Given the description of an element on the screen output the (x, y) to click on. 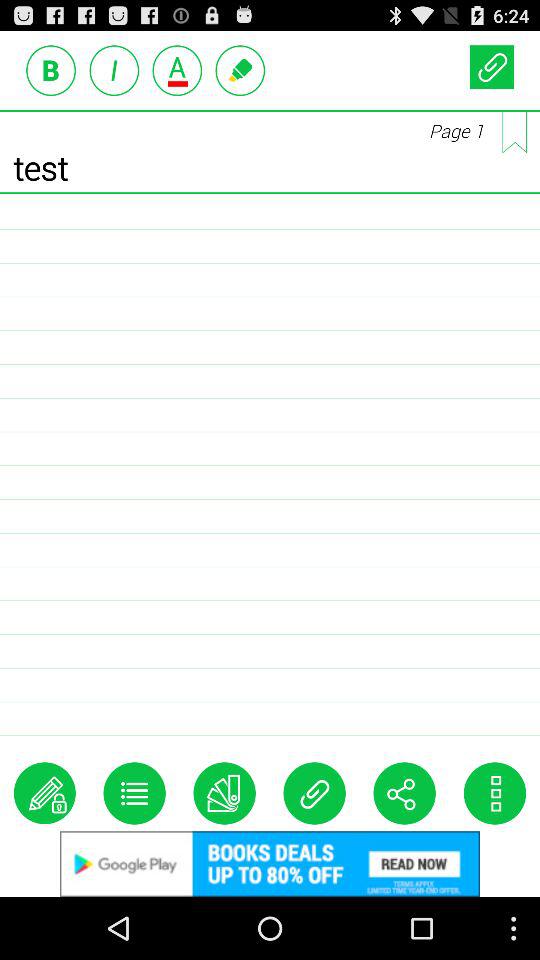
go to marker (240, 70)
